Given the description of an element on the screen output the (x, y) to click on. 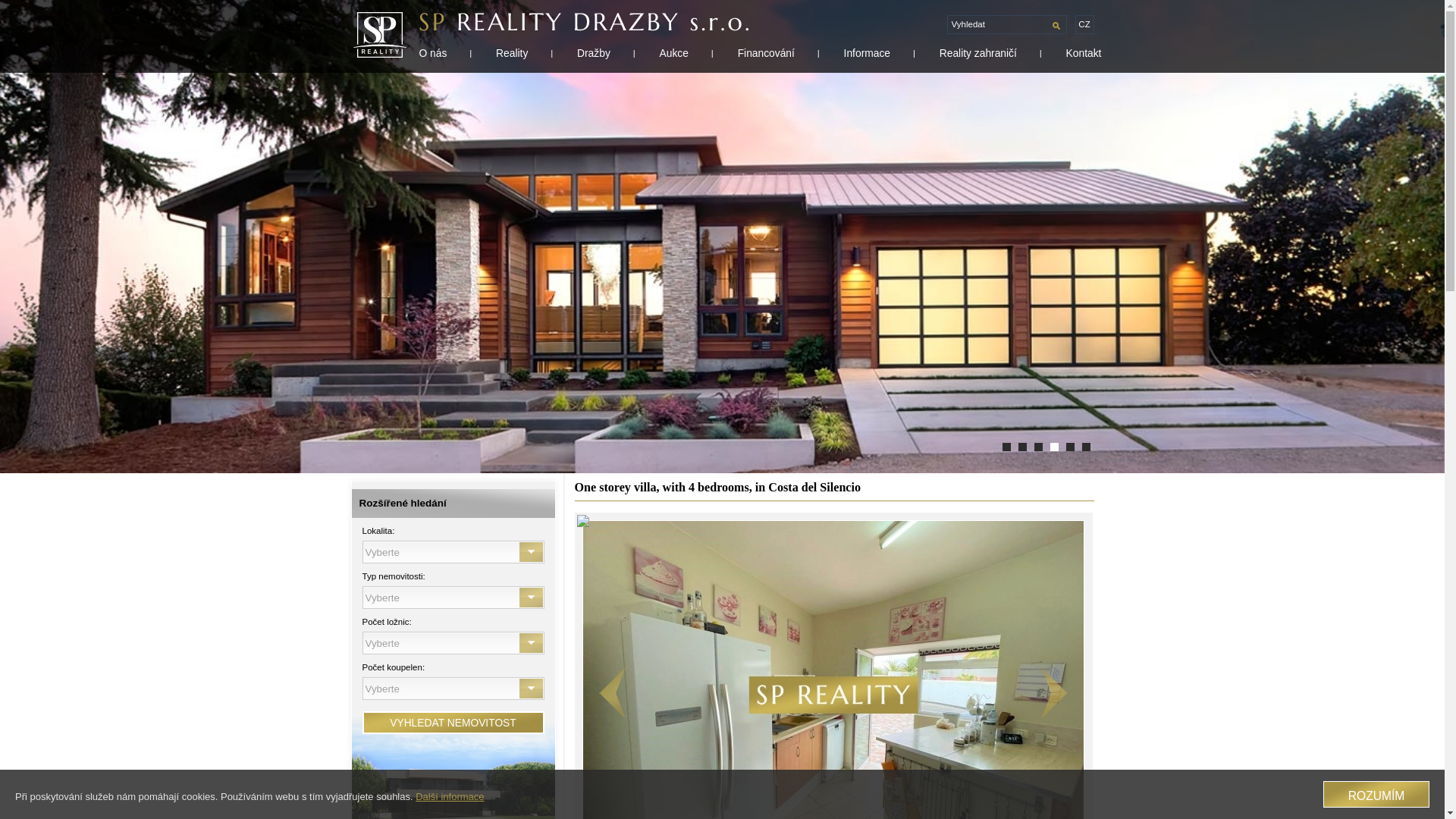
3 (1053, 447)
VYHLEDAT NEMOVITOST (453, 722)
Aukce (673, 52)
Vyhledat (1000, 24)
CZ (1083, 23)
Vyhledat (1000, 24)
2 (1069, 447)
1 (1085, 447)
6 (1006, 447)
Informace (866, 52)
5 (1021, 447)
4 (1037, 447)
